Given the description of an element on the screen output the (x, y) to click on. 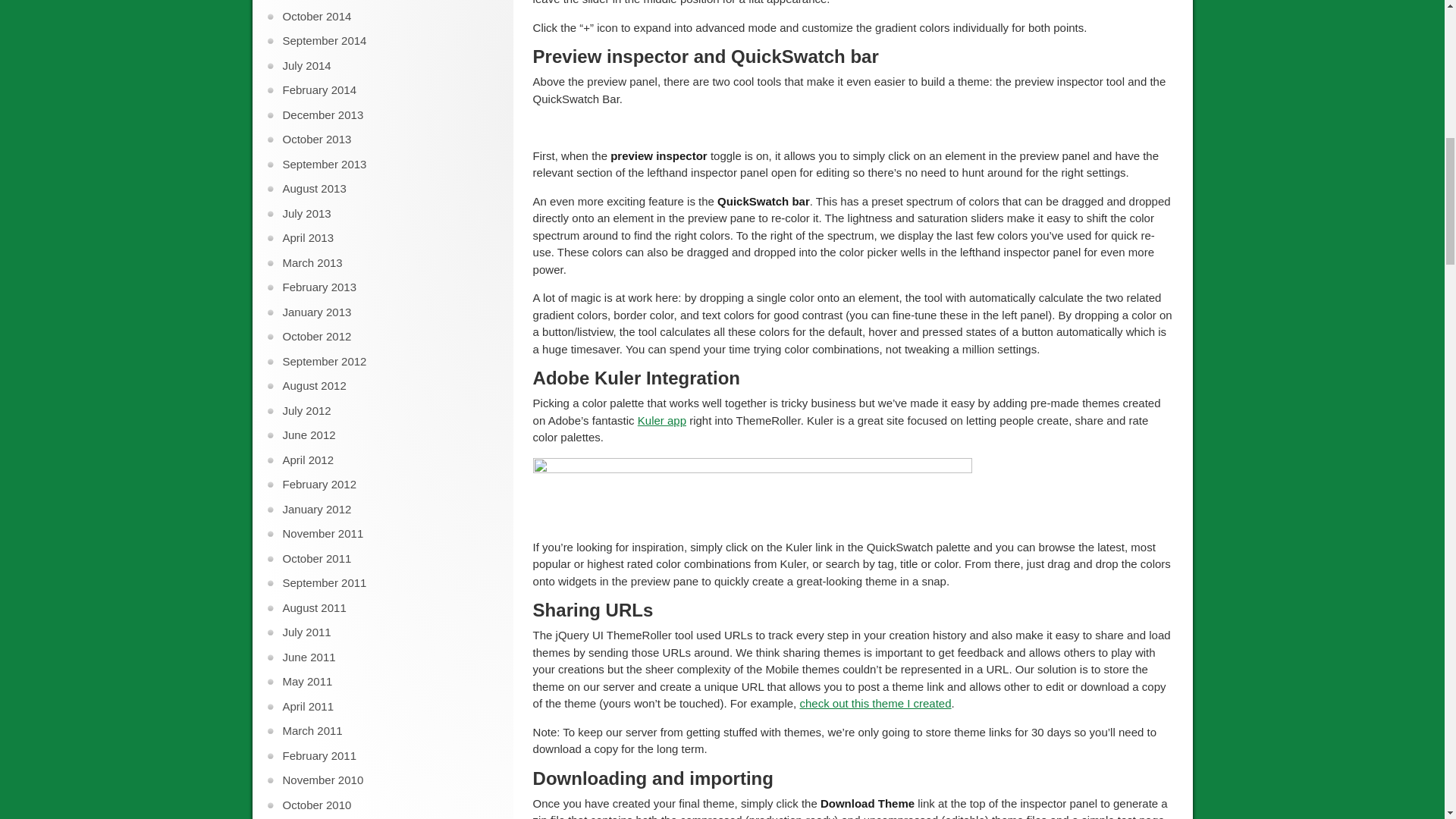
themeroller-mobile-kuler (752, 492)
